Given the description of an element on the screen output the (x, y) to click on. 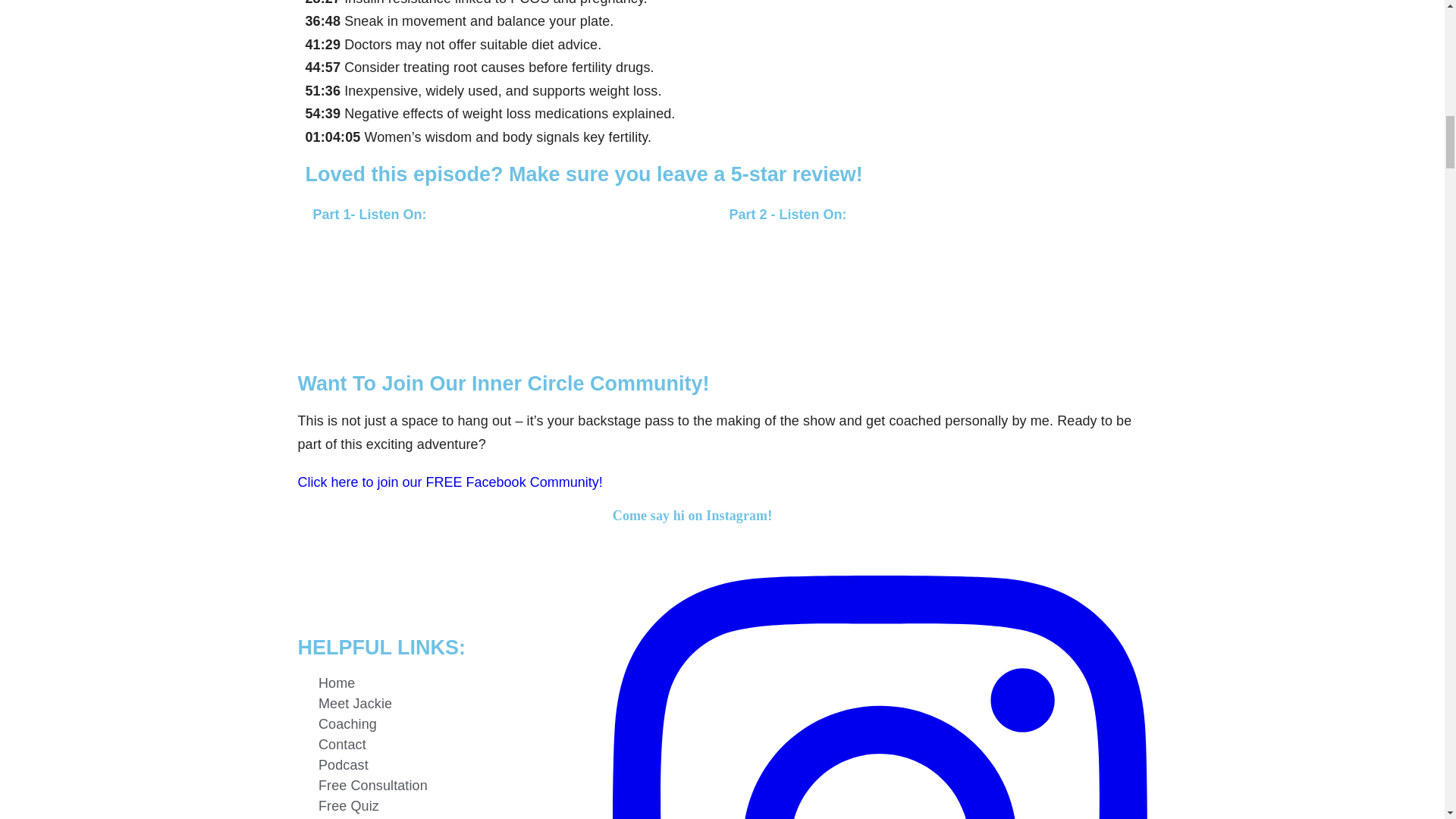
Podcast (446, 765)
Free Quiz (446, 806)
Meet Jackie (446, 703)
Free Consultation (446, 785)
Coaching (446, 724)
Home (446, 683)
Click here to join our FREE Facebook Community! (449, 482)
Contact (446, 744)
